Given the description of an element on the screen output the (x, y) to click on. 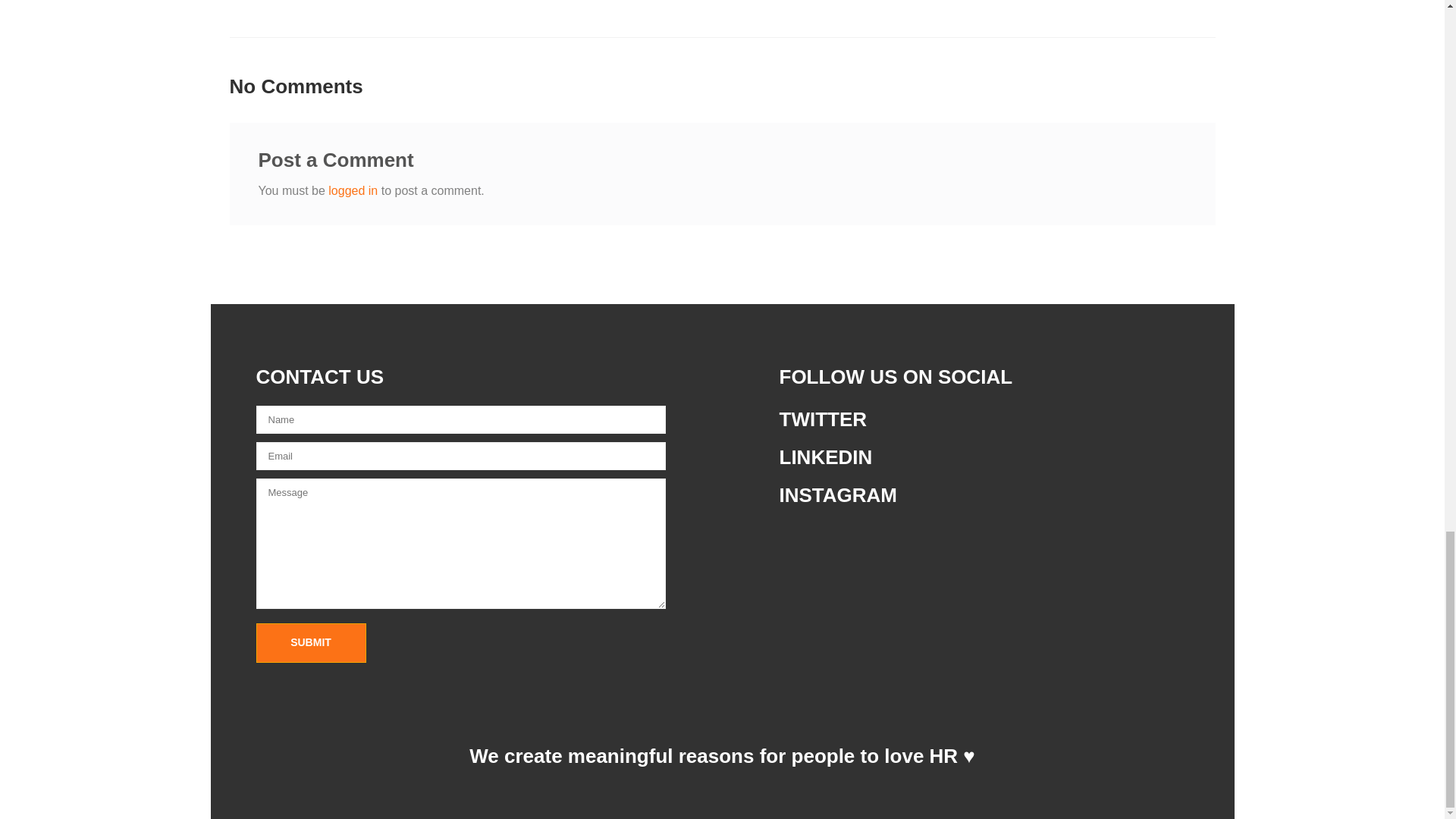
Submit (311, 642)
